Given the description of an element on the screen output the (x, y) to click on. 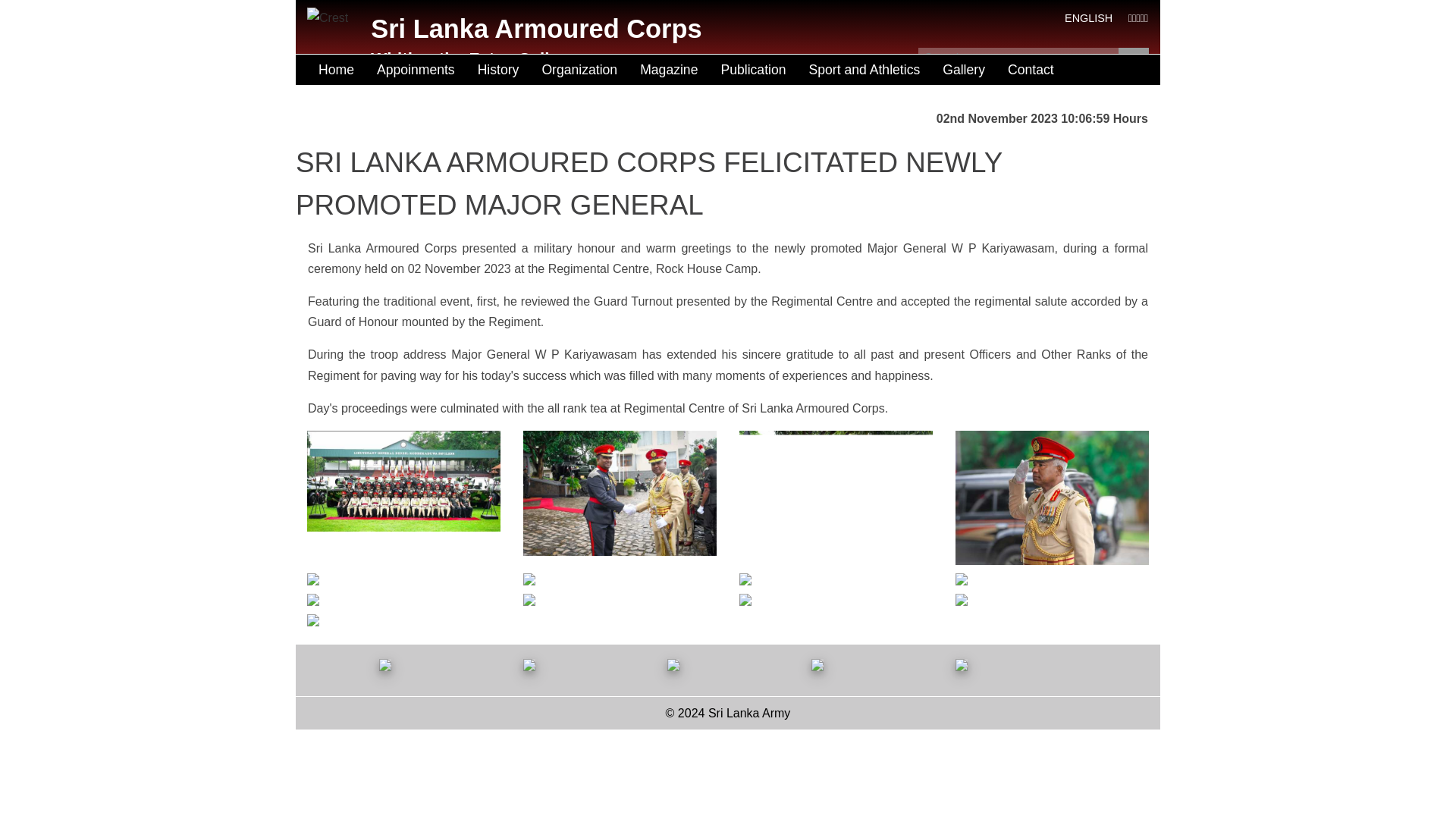
History (498, 69)
Publication (752, 69)
Sport and Athletics (864, 69)
Gallery (963, 69)
Appoinments (415, 69)
Magazine (668, 69)
ENGLISH (1088, 18)
Home (336, 69)
Organization (578, 69)
